Given the description of an element on the screen output the (x, y) to click on. 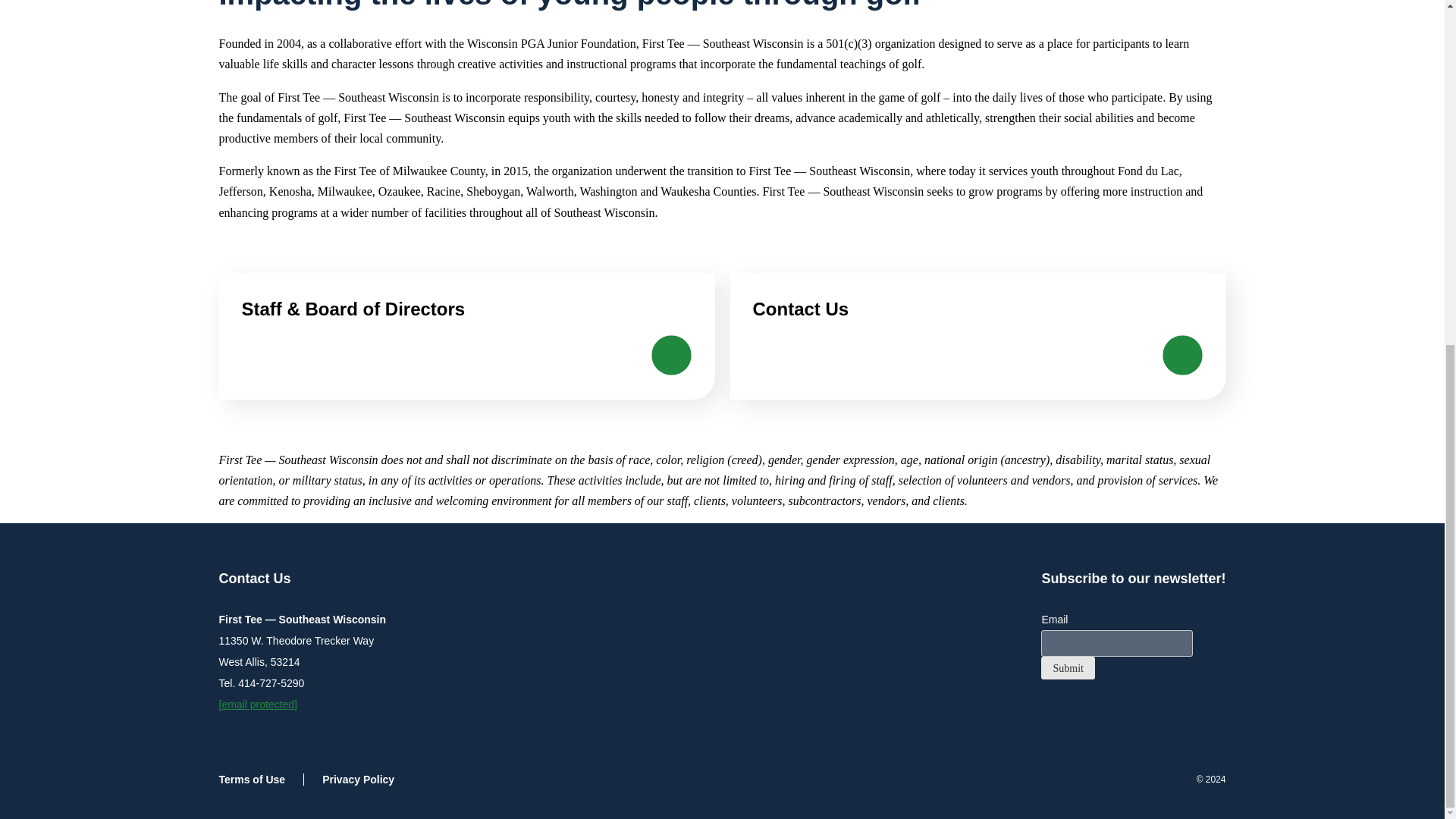
Open instagram in a new window (1049, 709)
Open twitter in a new window (1078, 709)
Open youtube in a new window (1139, 709)
Submit (1067, 667)
Open facebook in a new window (1109, 709)
Submit (1067, 667)
Contact Us (977, 335)
